Given the description of an element on the screen output the (x, y) to click on. 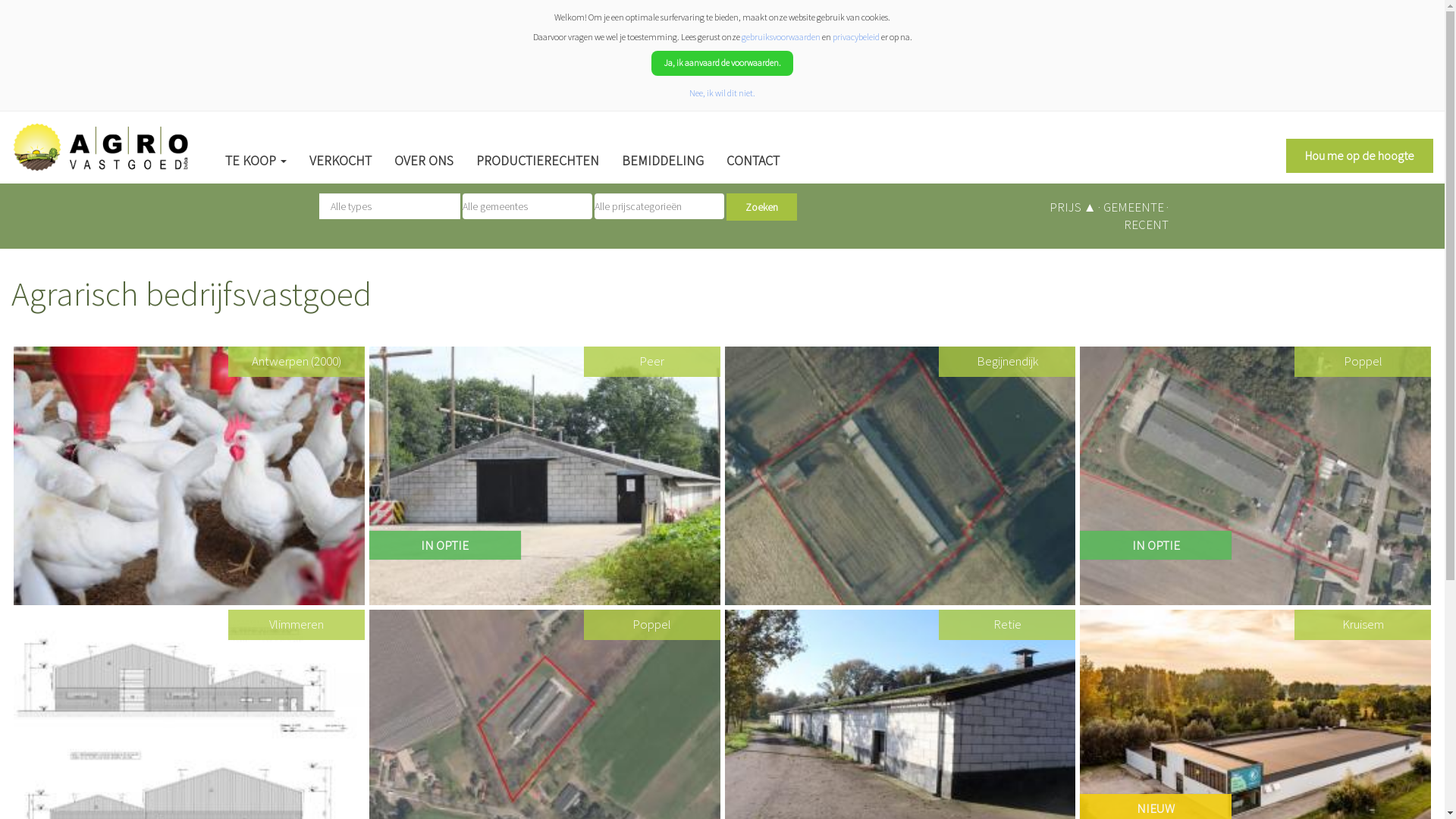
Antwerpen (2000) Element type: text (188, 475)
RECENT Element type: text (1145, 224)
BEMIDDELING Element type: text (662, 160)
gebruiksvoorwaarden Element type: text (780, 36)
Zoeken Element type: text (761, 206)
Poppel Element type: text (1254, 475)
Begijnendijk Element type: text (900, 475)
VERKOCHT Element type: text (340, 160)
privacybeleid Element type: text (855, 36)
CONTACT Element type: text (752, 160)
TE KOOP Element type: text (255, 160)
Ja, ik aanvaard de voorwaarden. Element type: text (722, 62)
Nee, ik wil dit niet. Element type: text (722, 92)
Hou me op de hoogte Element type: text (1359, 155)
PRODUCTIERECHTEN Element type: text (537, 160)
OVER ONS Element type: text (423, 160)
Peer Element type: text (544, 475)
